Given the description of an element on the screen output the (x, y) to click on. 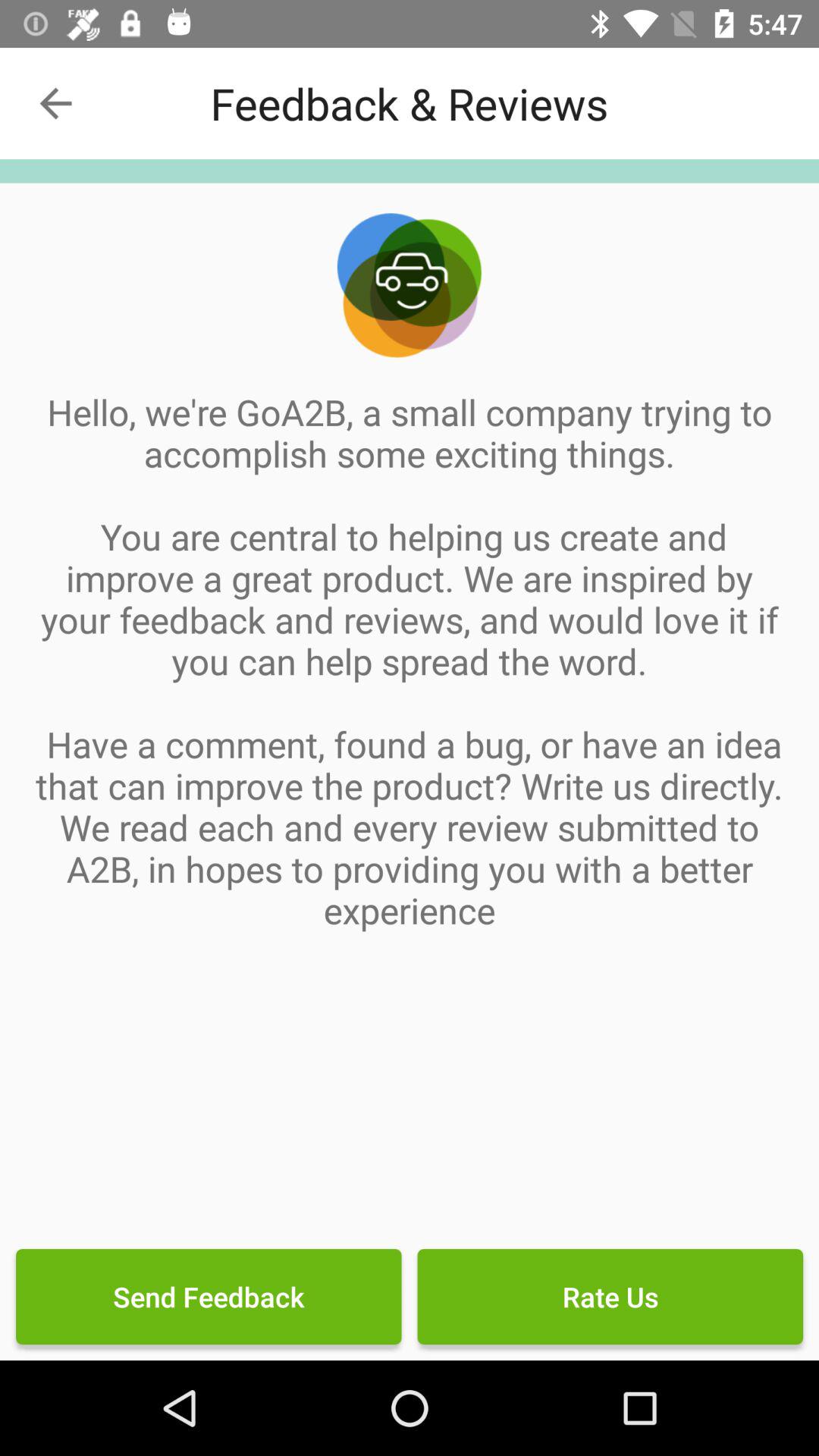
open the item to the left of the rate us item (208, 1296)
